Given the description of an element on the screen output the (x, y) to click on. 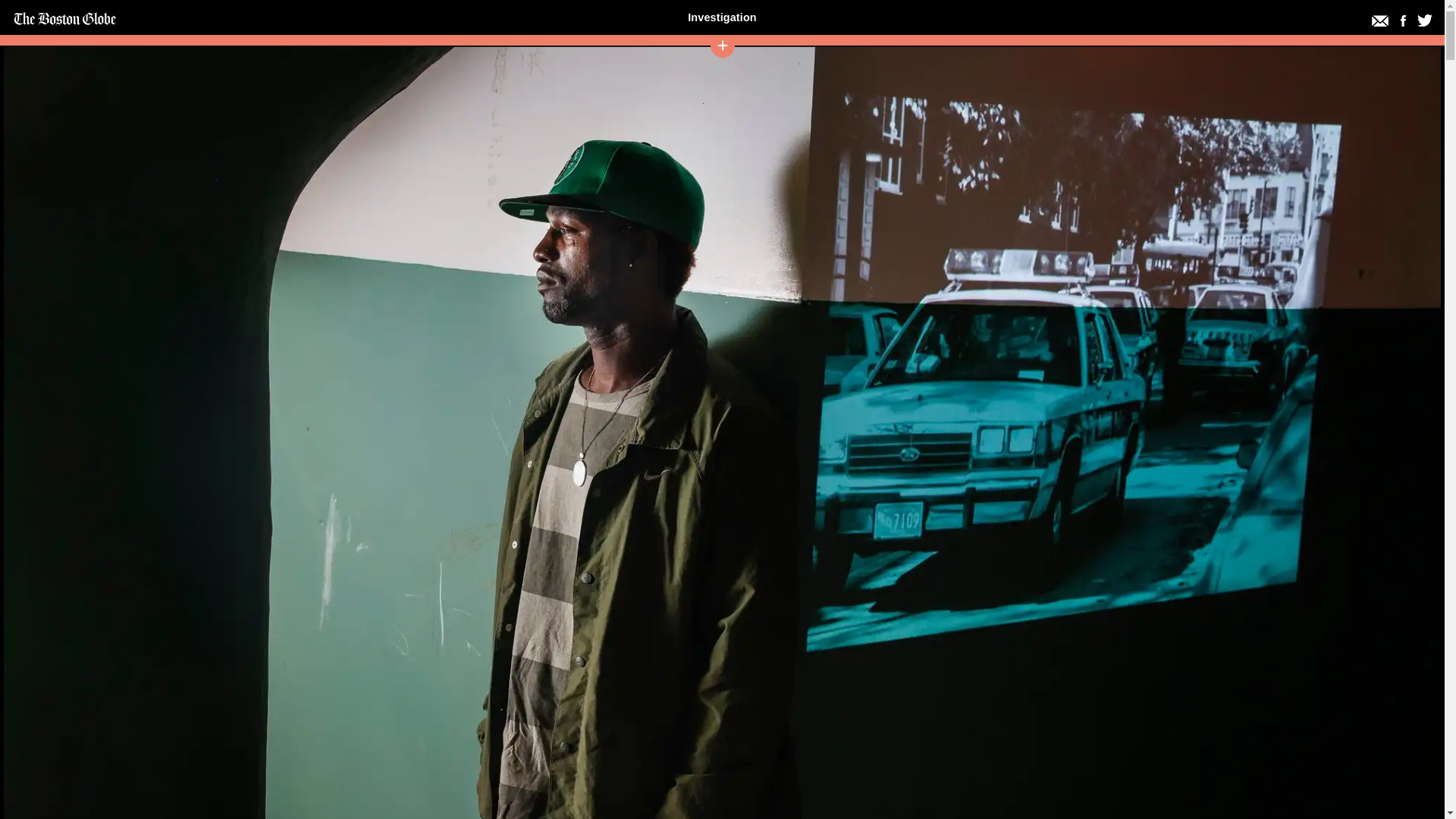
People (644, 10)
Podcast (1110, 10)
Photos (955, 10)
Documents (798, 10)
Timeline (331, 10)
Newspapers (488, 10)
